Given the description of an element on the screen output the (x, y) to click on. 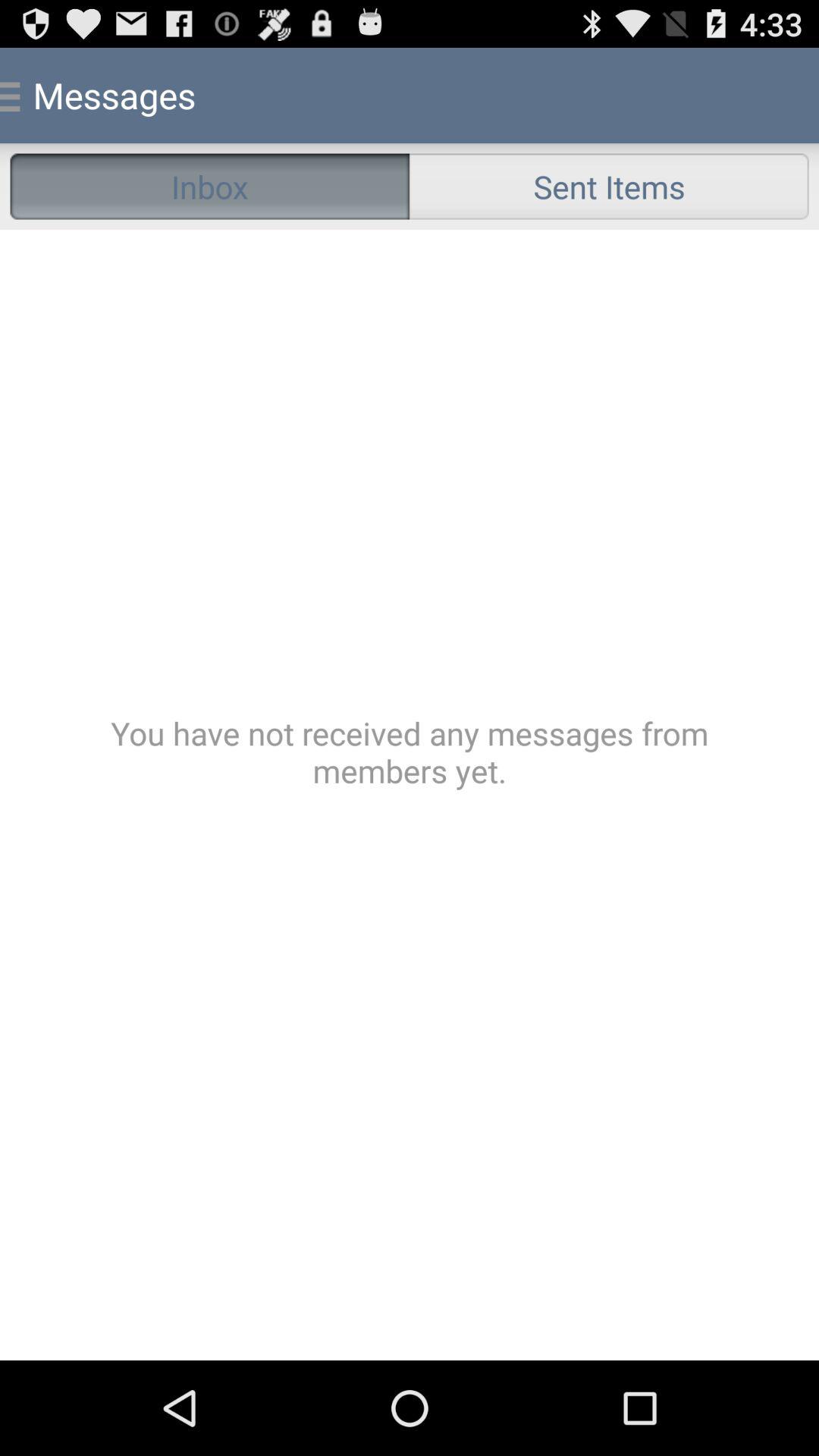
turn on the item next to sent items radio button (209, 186)
